Given the description of an element on the screen output the (x, y) to click on. 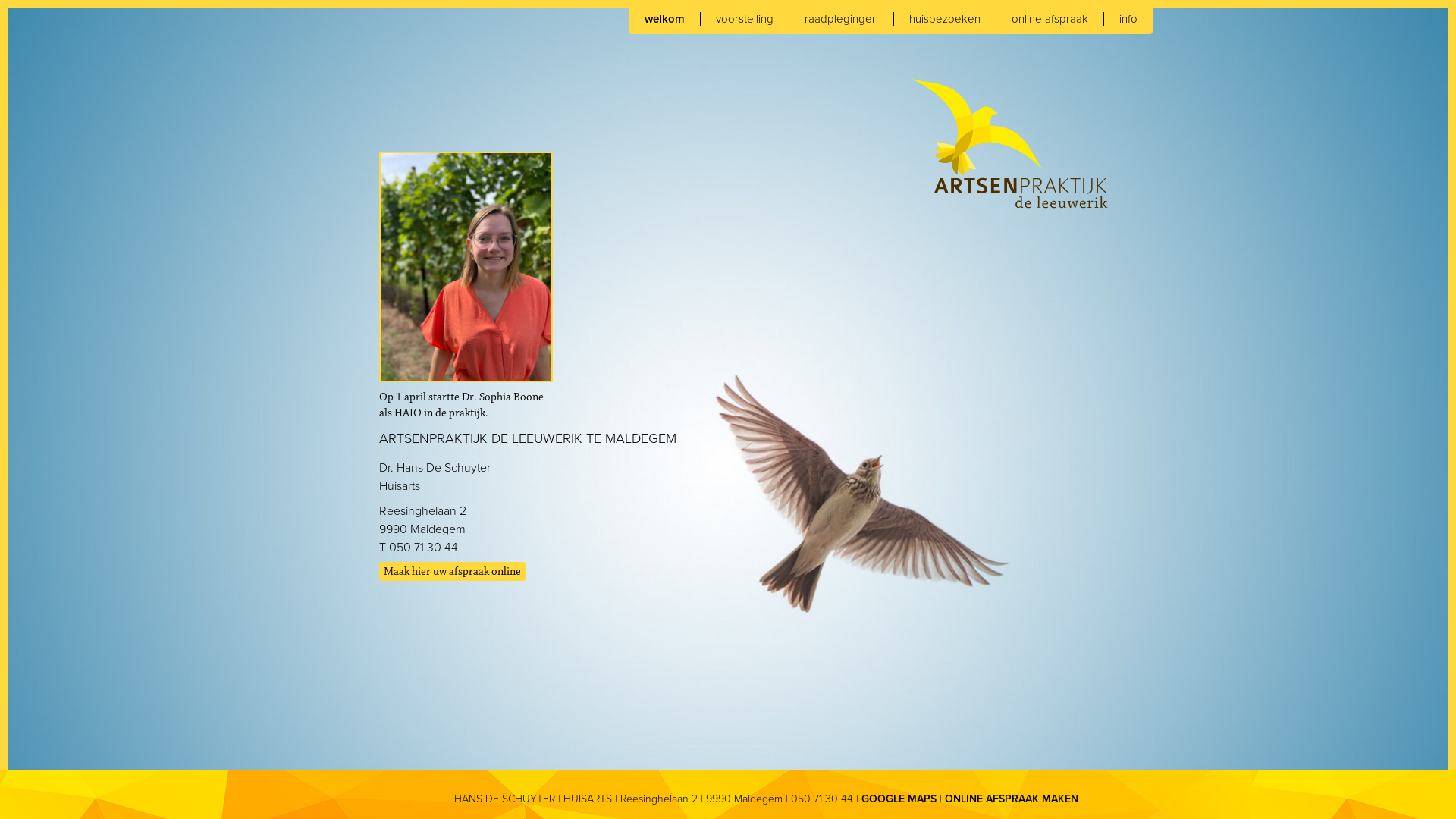
welkom Element type: text (664, 18)
GOOGLE MAPS Element type: text (898, 798)
voorstelling Element type: text (744, 18)
huisbezoeken Element type: text (945, 18)
online afspraak Element type: text (1050, 18)
Maak hier uw afspraak online Element type: text (452, 570)
ARTSENPRAKTIJK DE LEEUWERIK Element type: text (1010, 142)
raadplegingen Element type: text (841, 18)
ONLINE AFSPRAAK MAKEN Element type: text (1011, 798)
info Element type: text (1128, 18)
